Given the description of an element on the screen output the (x, y) to click on. 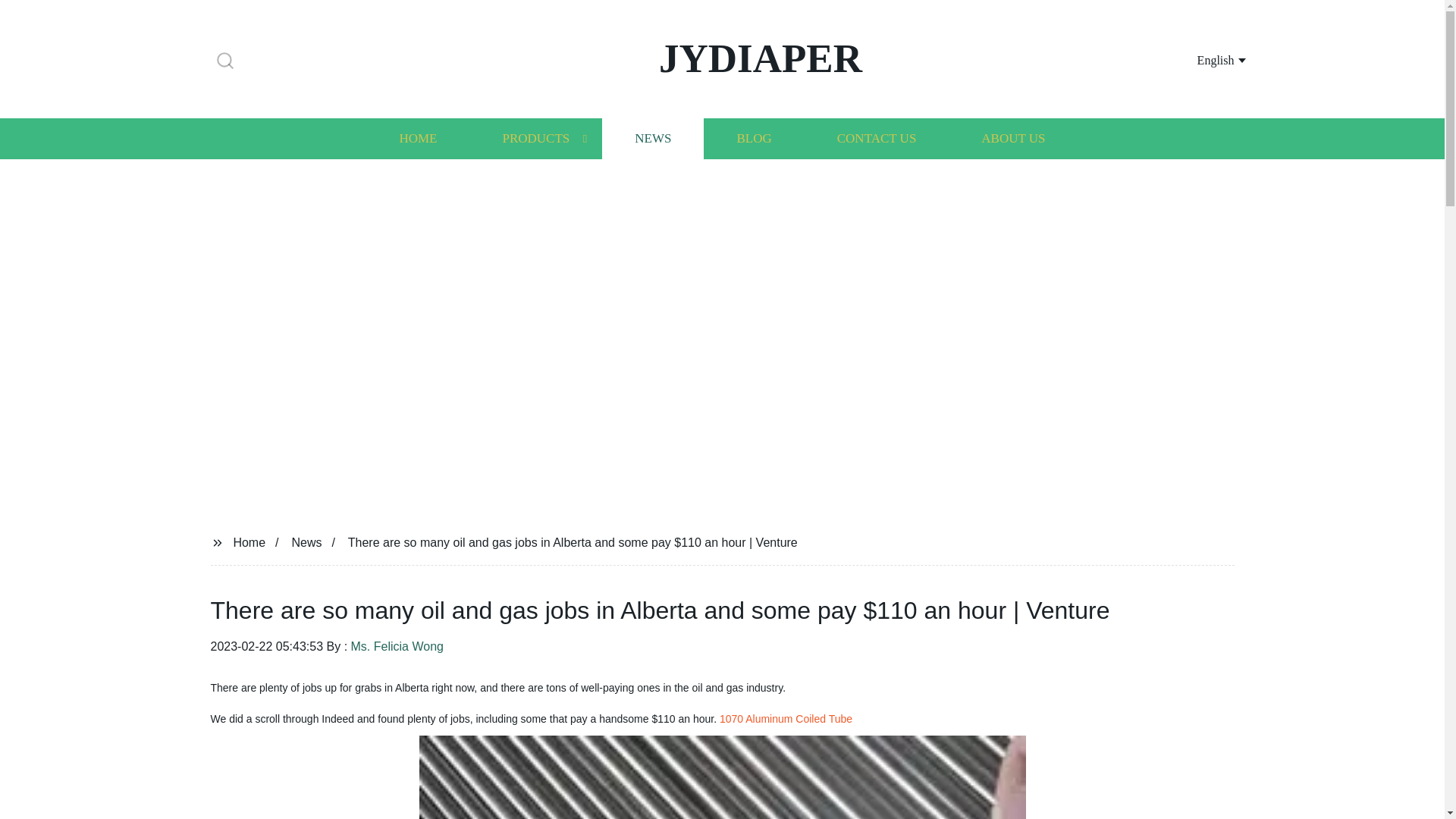
ABOUT US (1013, 137)
BLOG (753, 137)
NEWS (652, 137)
PRODUCTS (535, 137)
English (1203, 59)
HOME (417, 137)
CONTACT US (877, 137)
1070 Aluminum Coiled Tube (785, 718)
English (1203, 59)
News (306, 541)
Home (248, 541)
